Given the description of an element on the screen output the (x, y) to click on. 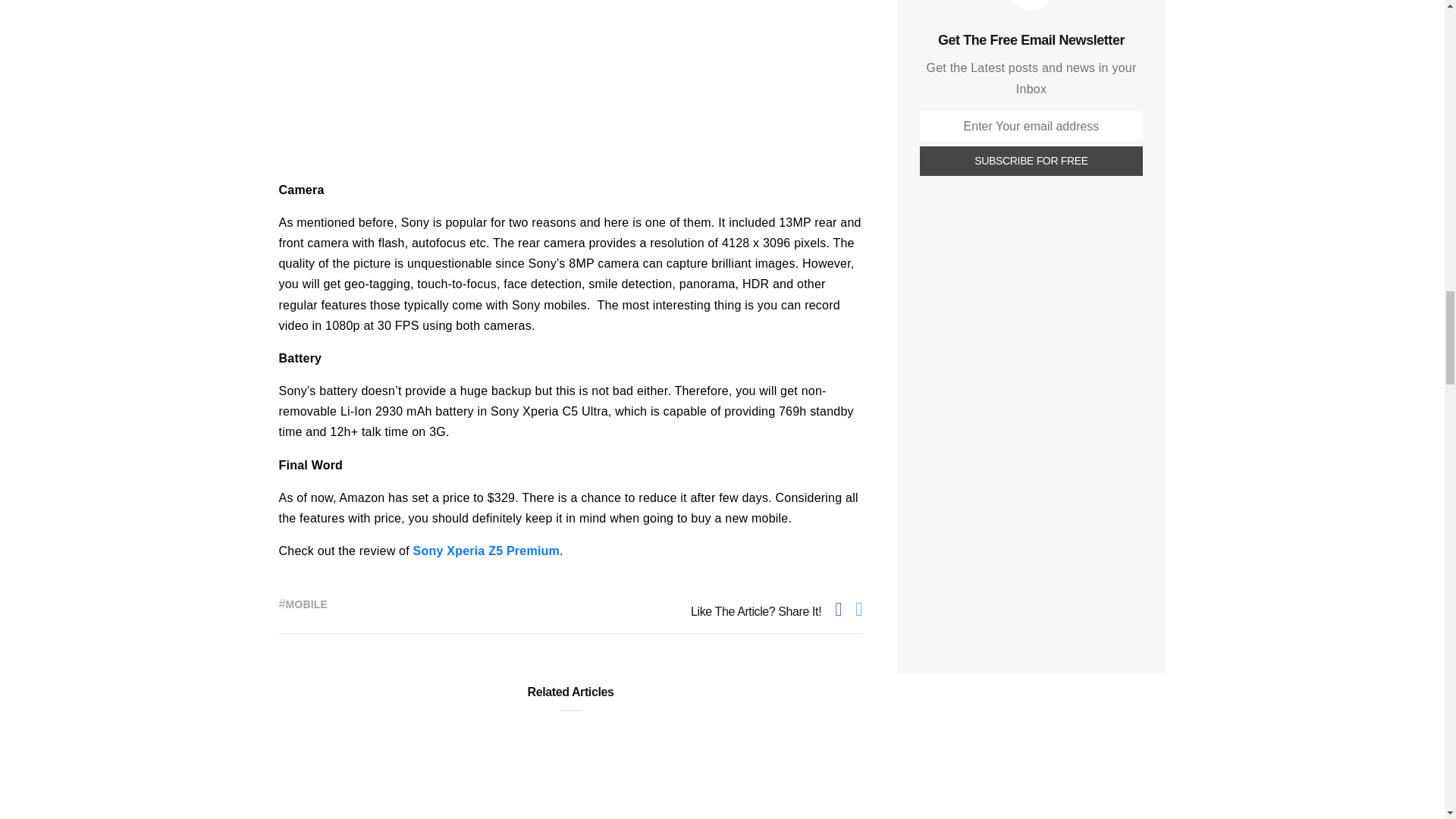
Advertisement (1031, 750)
Sony Xperia Z5 Premium (486, 550)
Subscribe For Free (1030, 161)
MOBILE (306, 604)
